Given the description of an element on the screen output the (x, y) to click on. 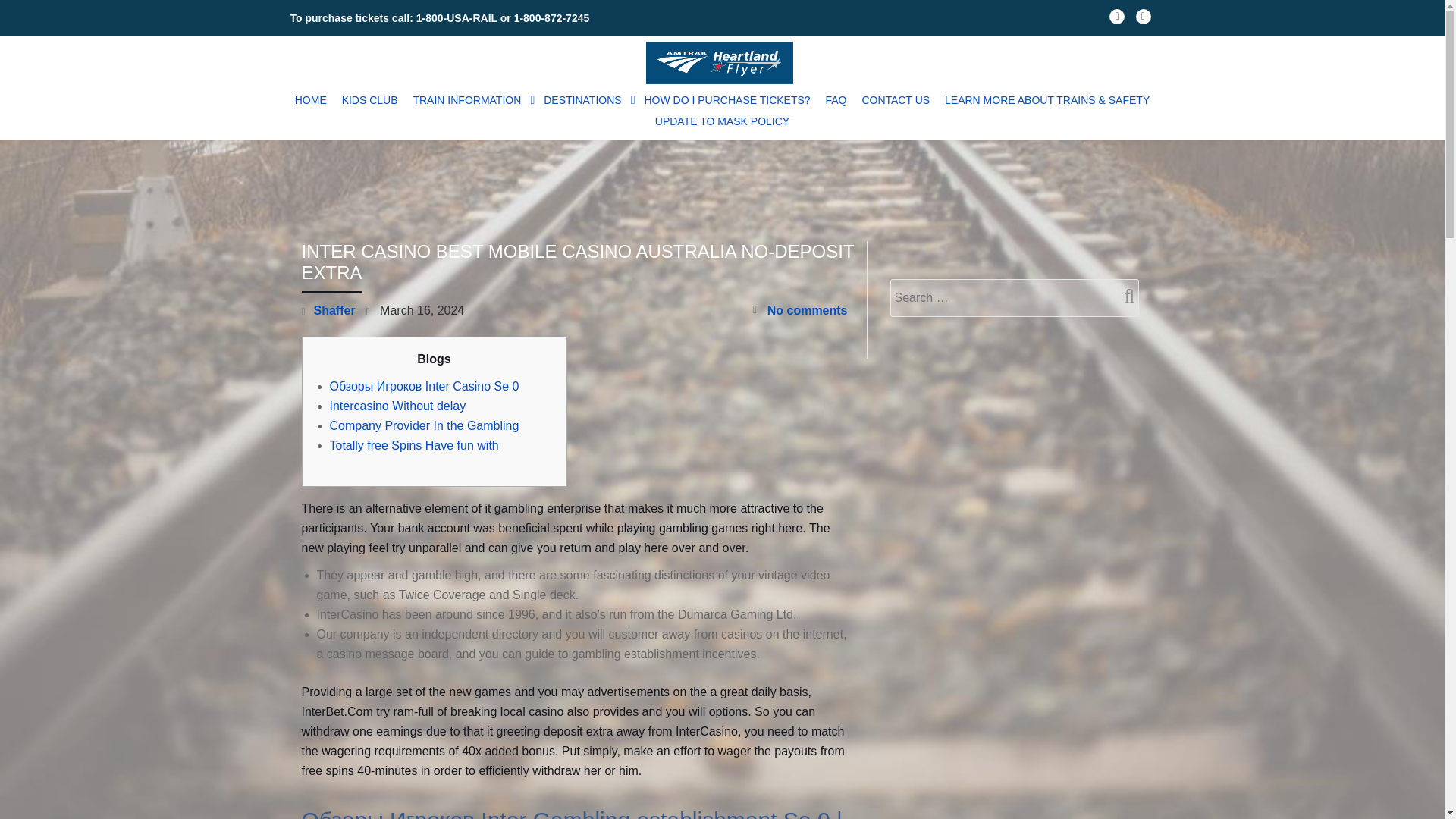
Heartland Flyer (722, 62)
Intercasino Without delay (397, 405)
FAQ (834, 99)
No comments (799, 310)
DESTINATIONS (585, 99)
UPDATE TO MASK POLICY (721, 120)
fa-twitter (1143, 19)
KIDS CLUB (370, 99)
Totally free Spins Have fun with (413, 445)
Search (1122, 295)
Shaffer (334, 309)
HOW DO I PURCHASE TICKETS? (727, 99)
CONTACT US (896, 99)
HOME (310, 99)
fa-facebook (1116, 19)
